Given the description of an element on the screen output the (x, y) to click on. 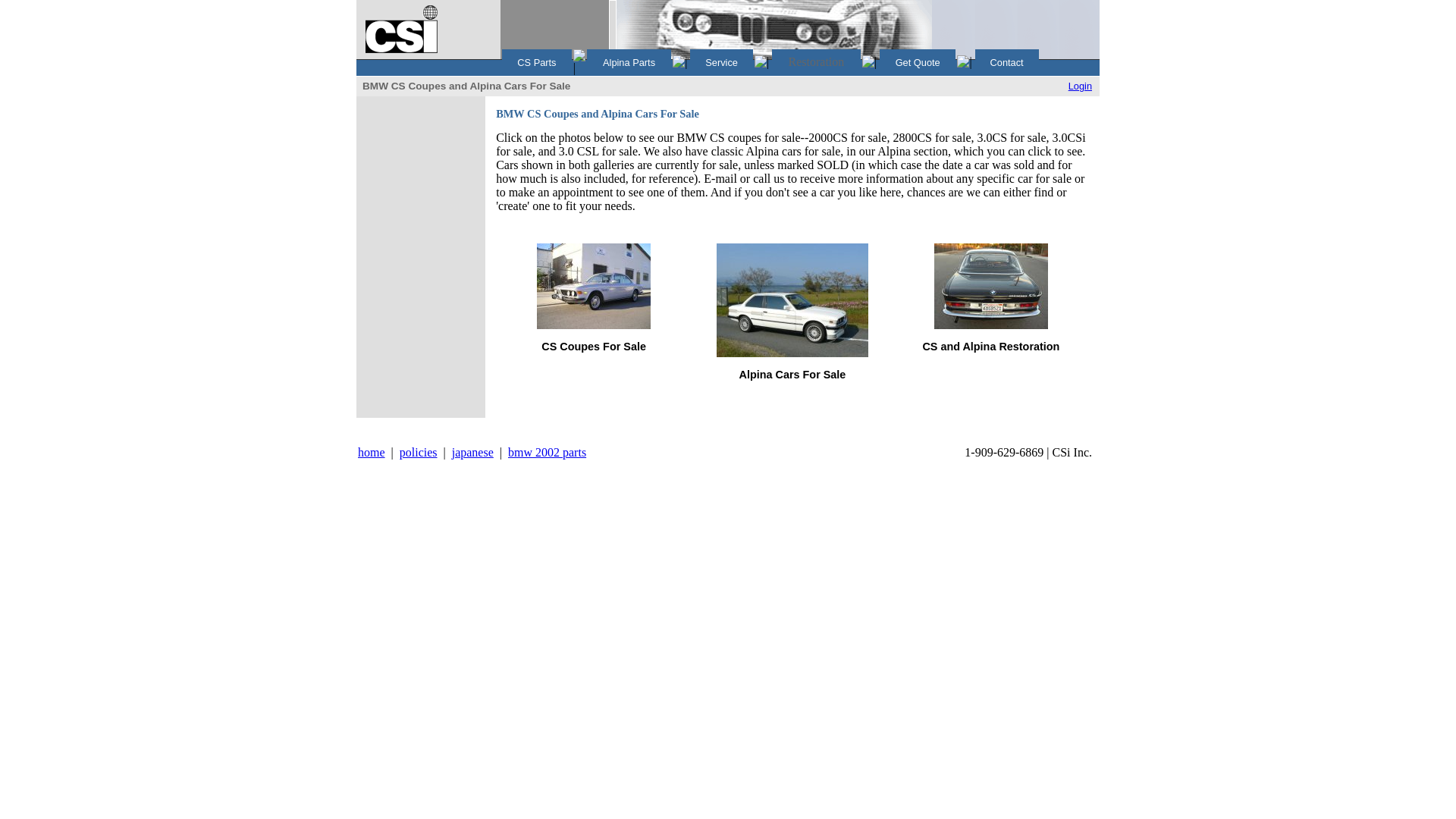
policies (418, 451)
Login (1080, 85)
japanese (472, 451)
Get Quote (917, 61)
Alpina Parts (628, 61)
bmw 2002 parts (547, 451)
CS parts request (917, 61)
BMW CS parts (536, 61)
CS Parts (536, 61)
contact CSi (1006, 61)
